Given the description of an element on the screen output the (x, y) to click on. 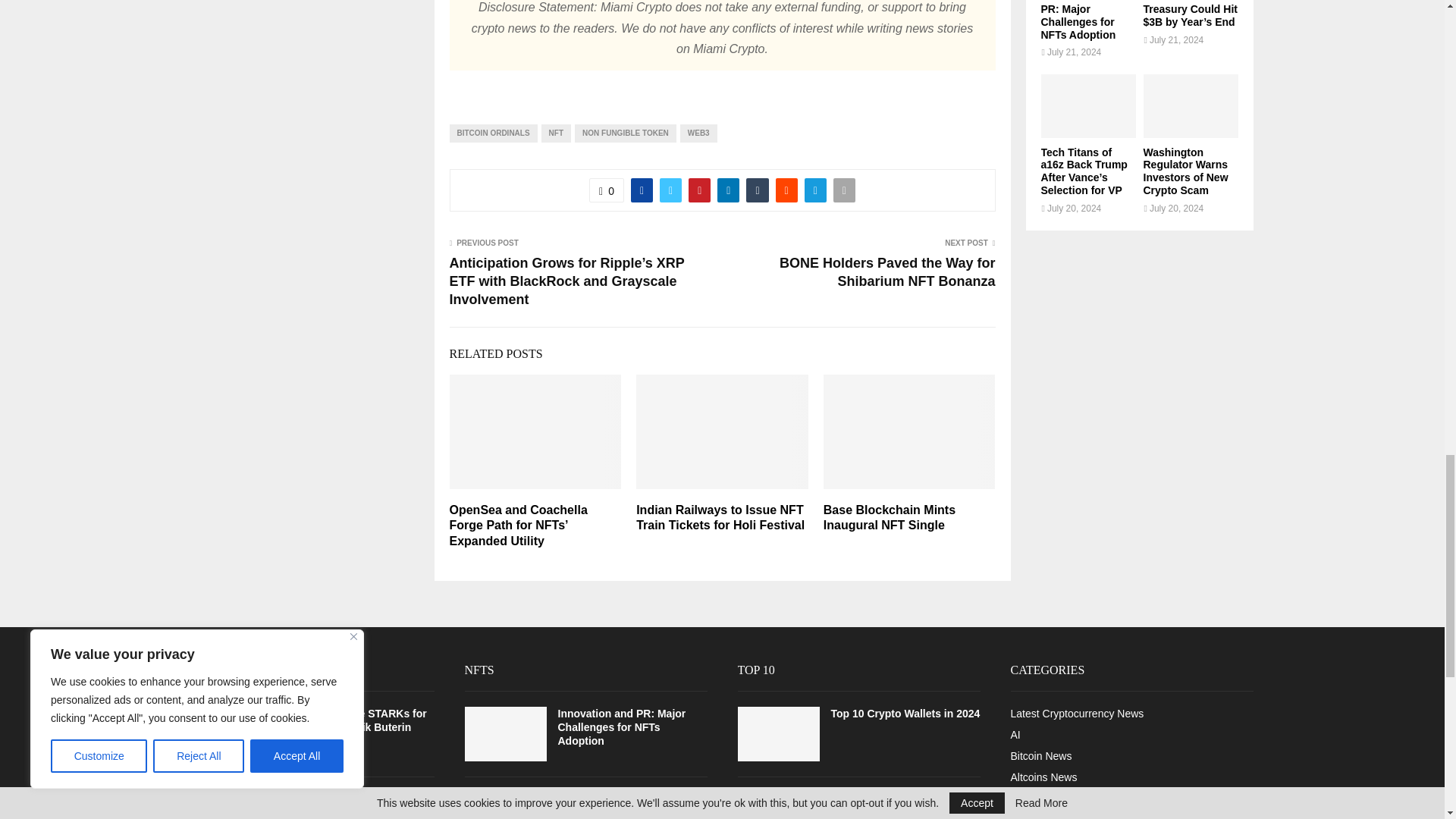
Like (606, 190)
